Given the description of an element on the screen output the (x, y) to click on. 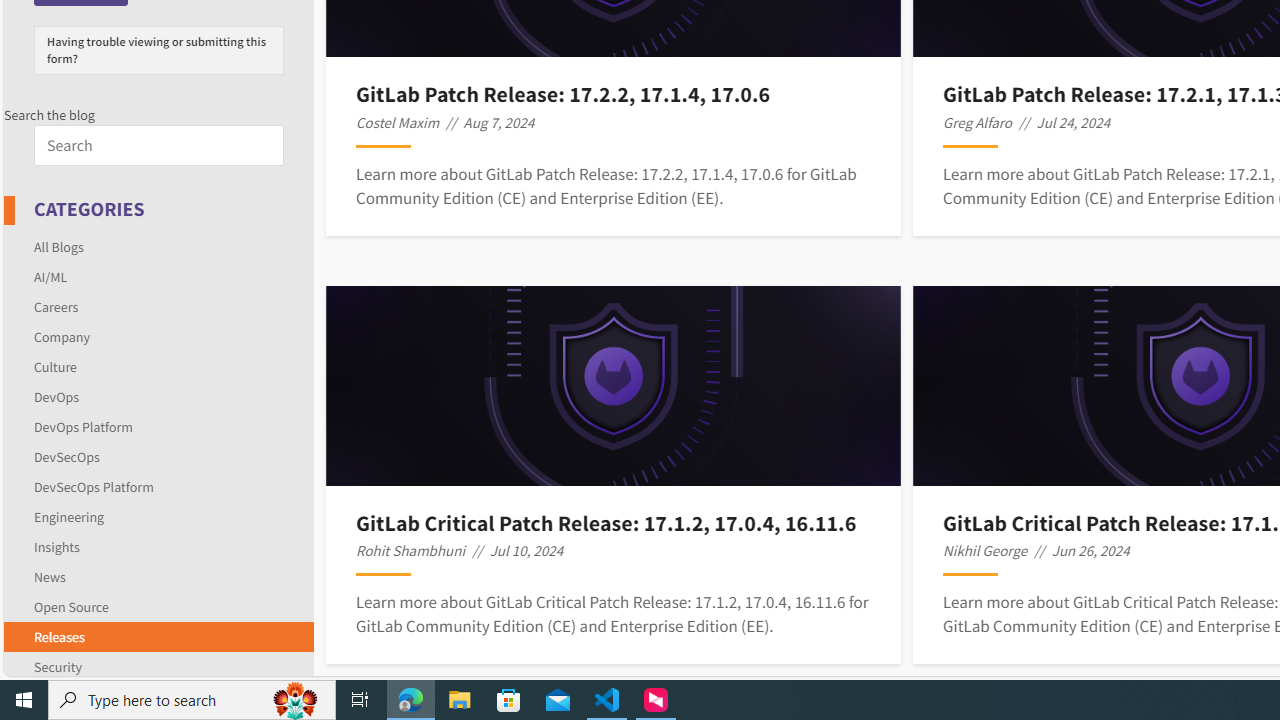
Insights (56, 546)
DevSecOps Platform (93, 486)
Company (62, 335)
DevSecOps (66, 456)
DevOps Platform (83, 425)
Careers (56, 306)
Post Image (614, 385)
AI/ML (50, 276)
DevOps (56, 396)
